Given the description of an element on the screen output the (x, y) to click on. 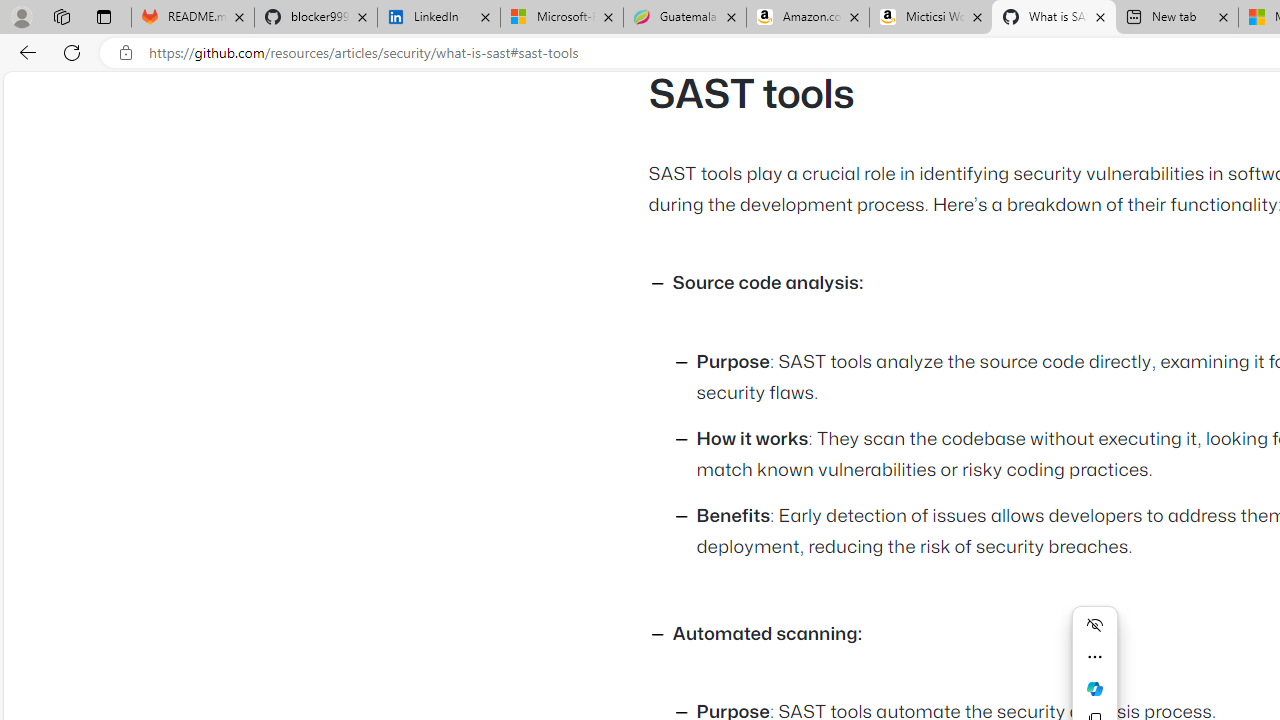
LinkedIn (438, 17)
More actions (1094, 656)
Ask Copilot (1094, 688)
